Given the description of an element on the screen output the (x, y) to click on. 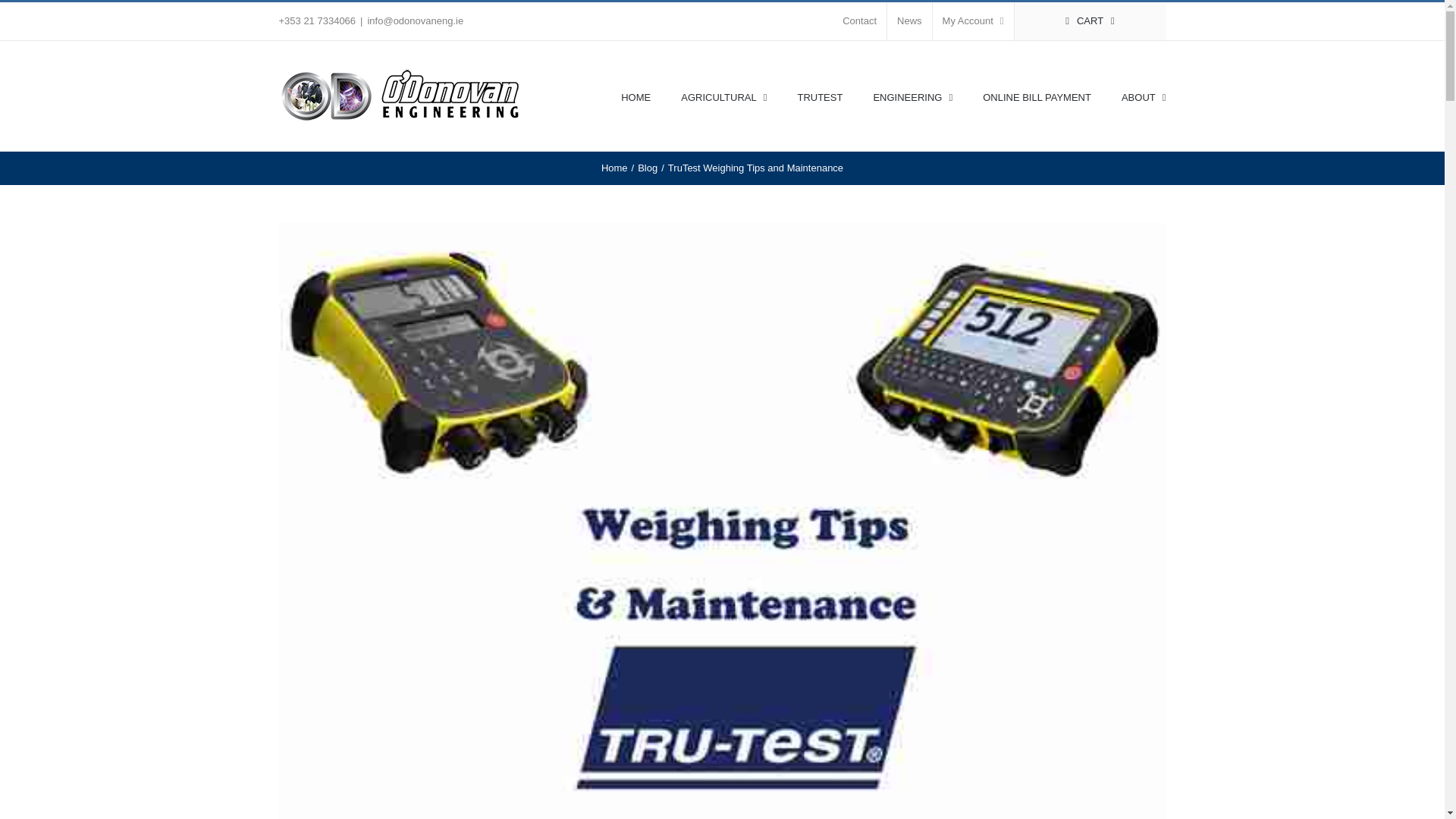
News (908, 21)
CART (1090, 21)
Log In (1034, 165)
My Account (973, 21)
Contact (859, 21)
